Given the description of an element on the screen output the (x, y) to click on. 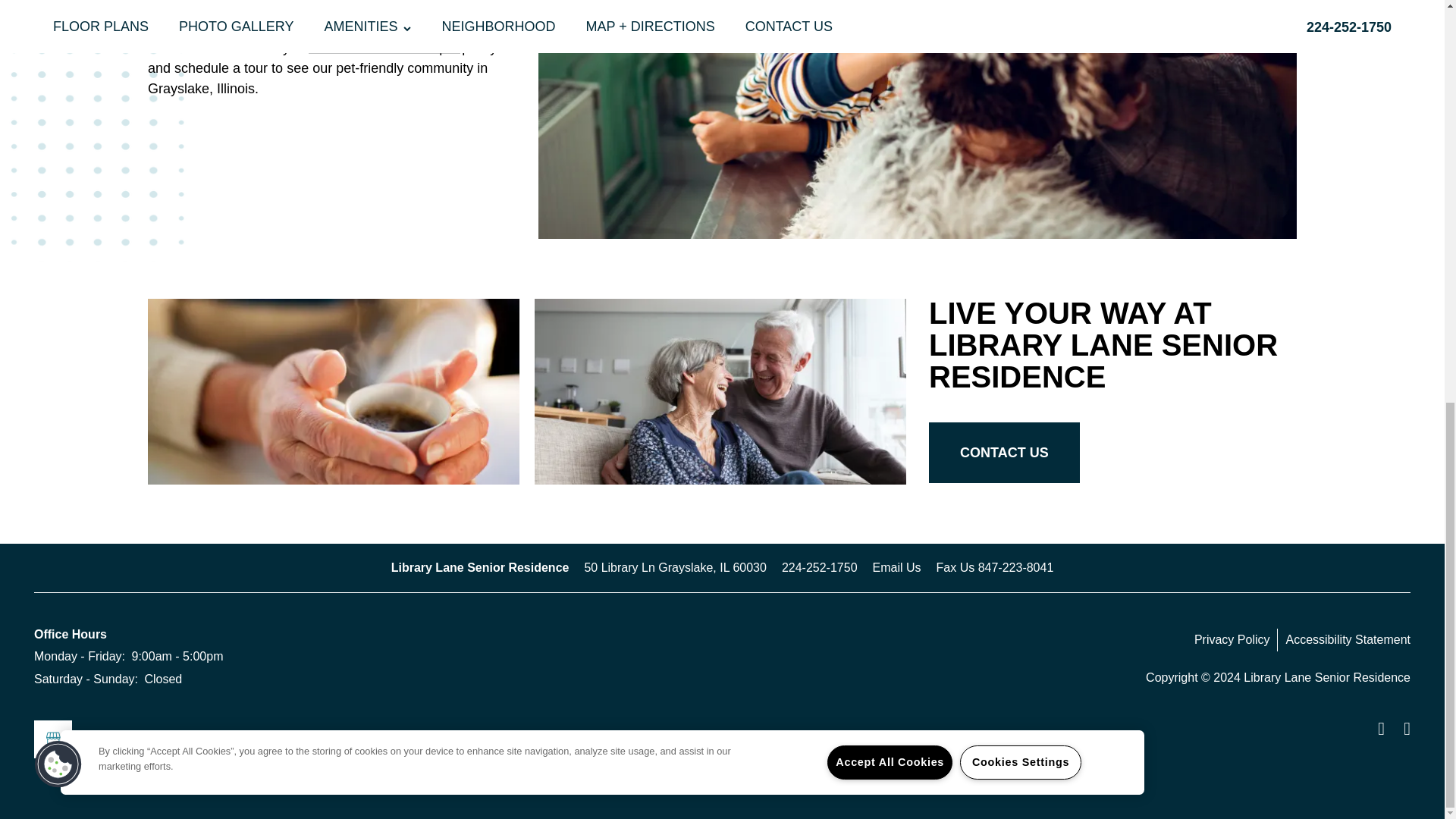
Email Us (896, 567)
50 Library Ln Grayslake, IL 60030 (674, 567)
Equal Opportunity Housing (1375, 728)
Privacy Policy (1235, 639)
Handicap Friendly (1400, 728)
CONTACT US (1004, 452)
224-252-1750 (819, 567)
Accessibility Statement (1347, 639)
Google My Business (52, 739)
